Given the description of an element on the screen output the (x, y) to click on. 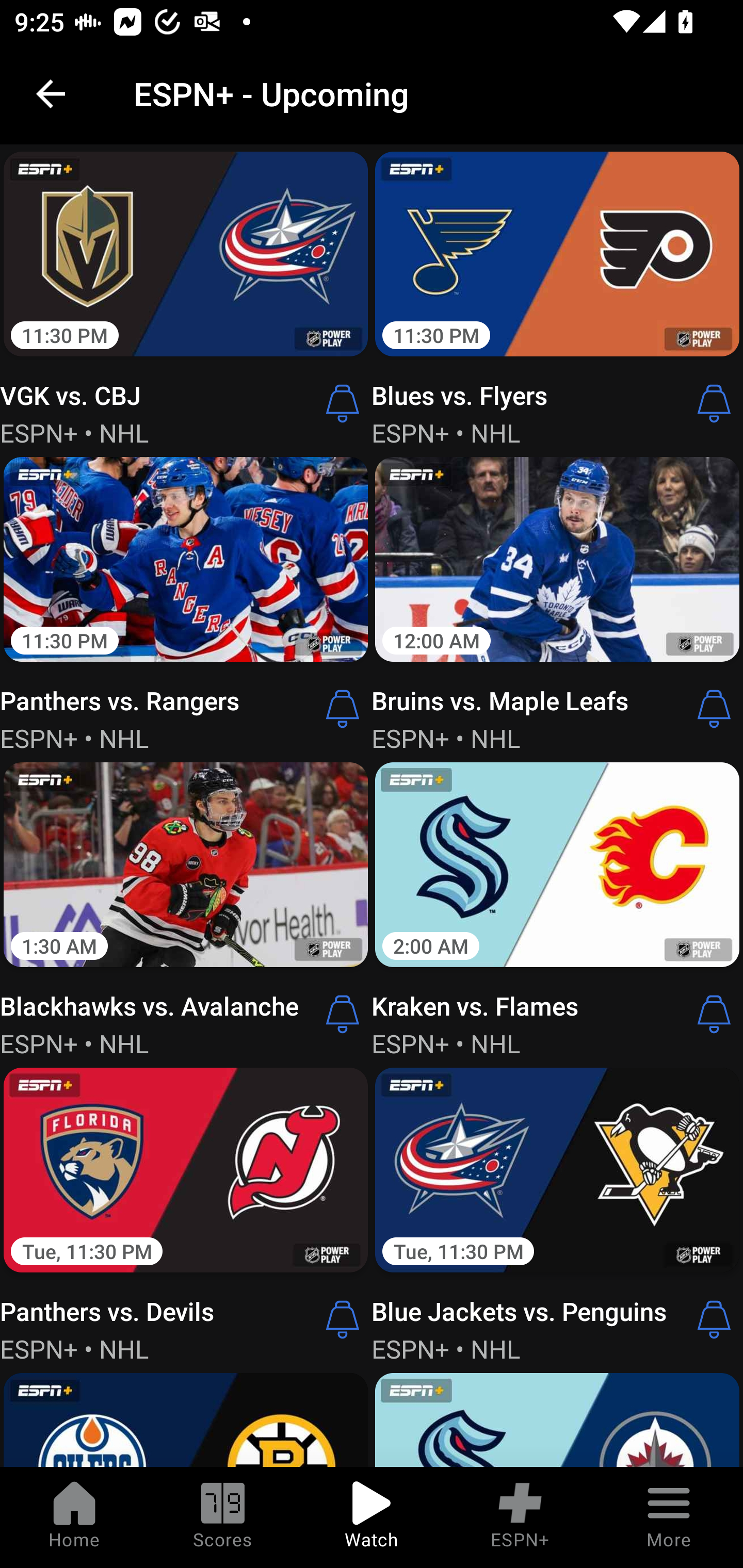
11:30 PM VGK vs. CBJ ESPN+ • NHL Alerts Alerts (185, 297)
Alerts (342, 403)
Alerts (714, 403)
Alerts (342, 708)
Alerts (714, 708)
Alerts (342, 1013)
Alerts (714, 1013)
Alerts (342, 1319)
Alerts (714, 1319)
Home (74, 1517)
Scores (222, 1517)
ESPN+ (519, 1517)
More (668, 1517)
